Given the description of an element on the screen output the (x, y) to click on. 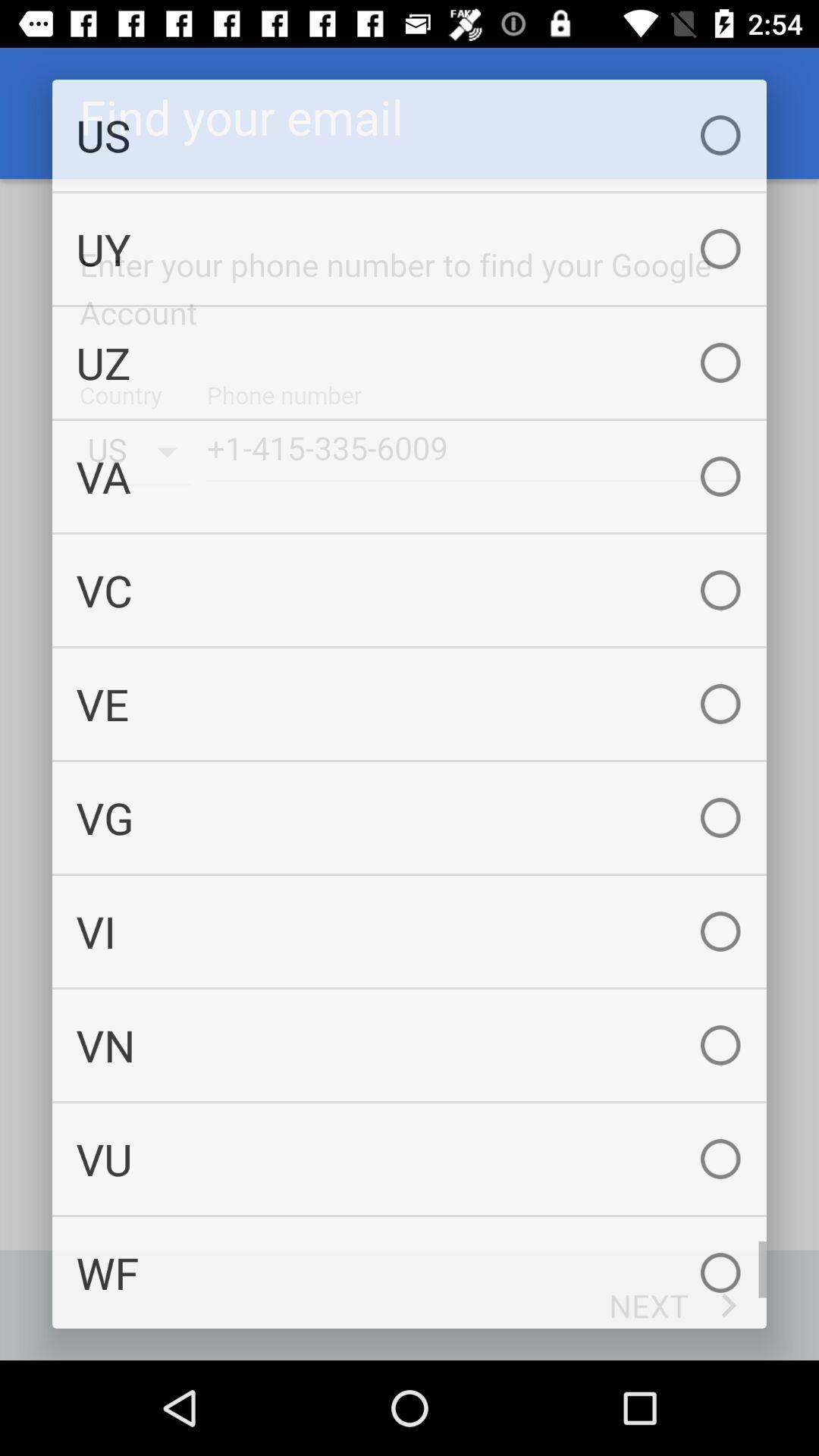
flip to the vg (409, 817)
